Given the description of an element on the screen output the (x, y) to click on. 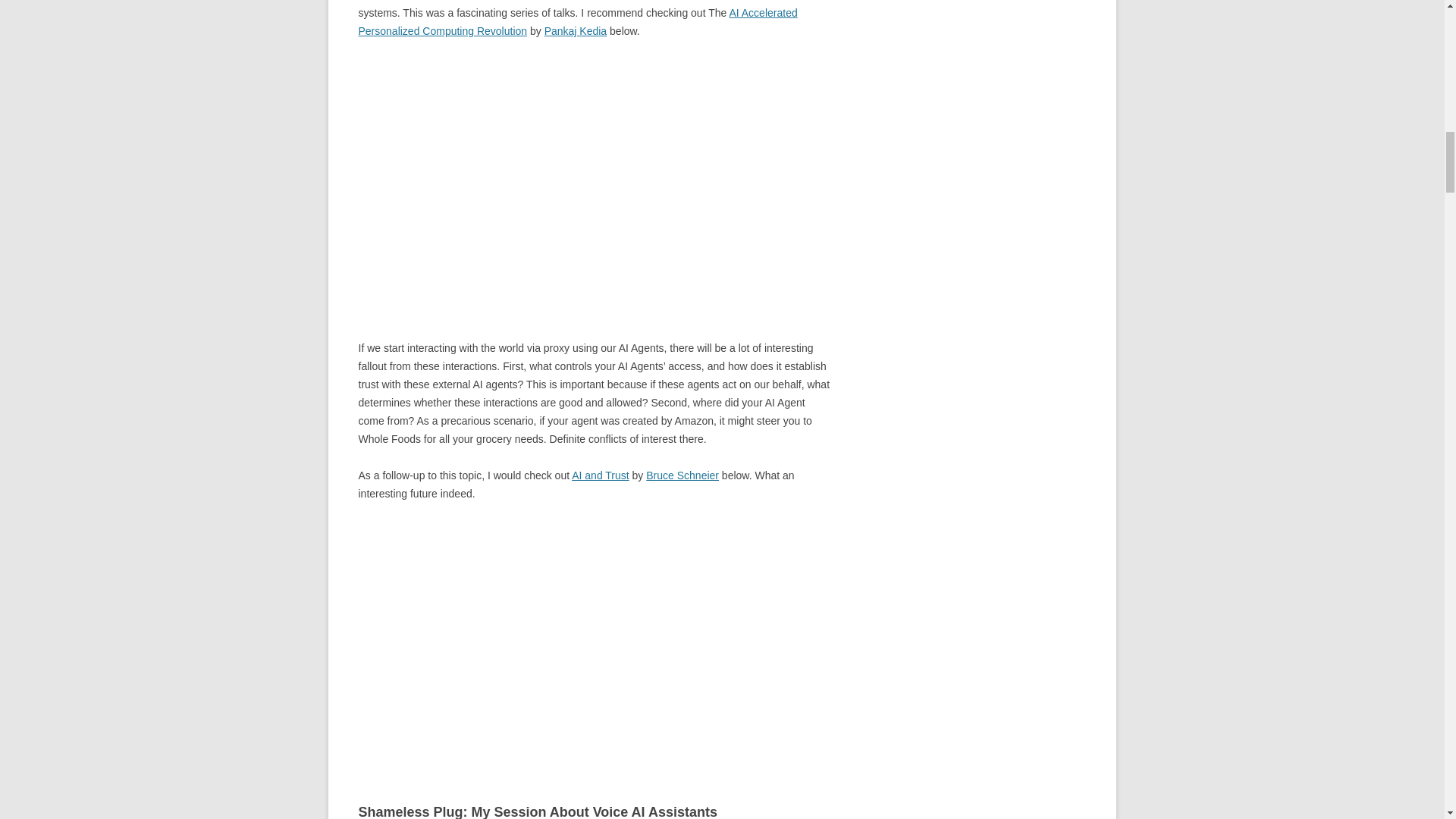
YouTube video player (570, 177)
Bruce Schneier (682, 475)
AI Accelerated Personalized Computing Revolution (577, 21)
YouTube video player (570, 640)
AI and Trust (600, 475)
Pankaj Kedia (575, 30)
